Given the description of an element on the screen output the (x, y) to click on. 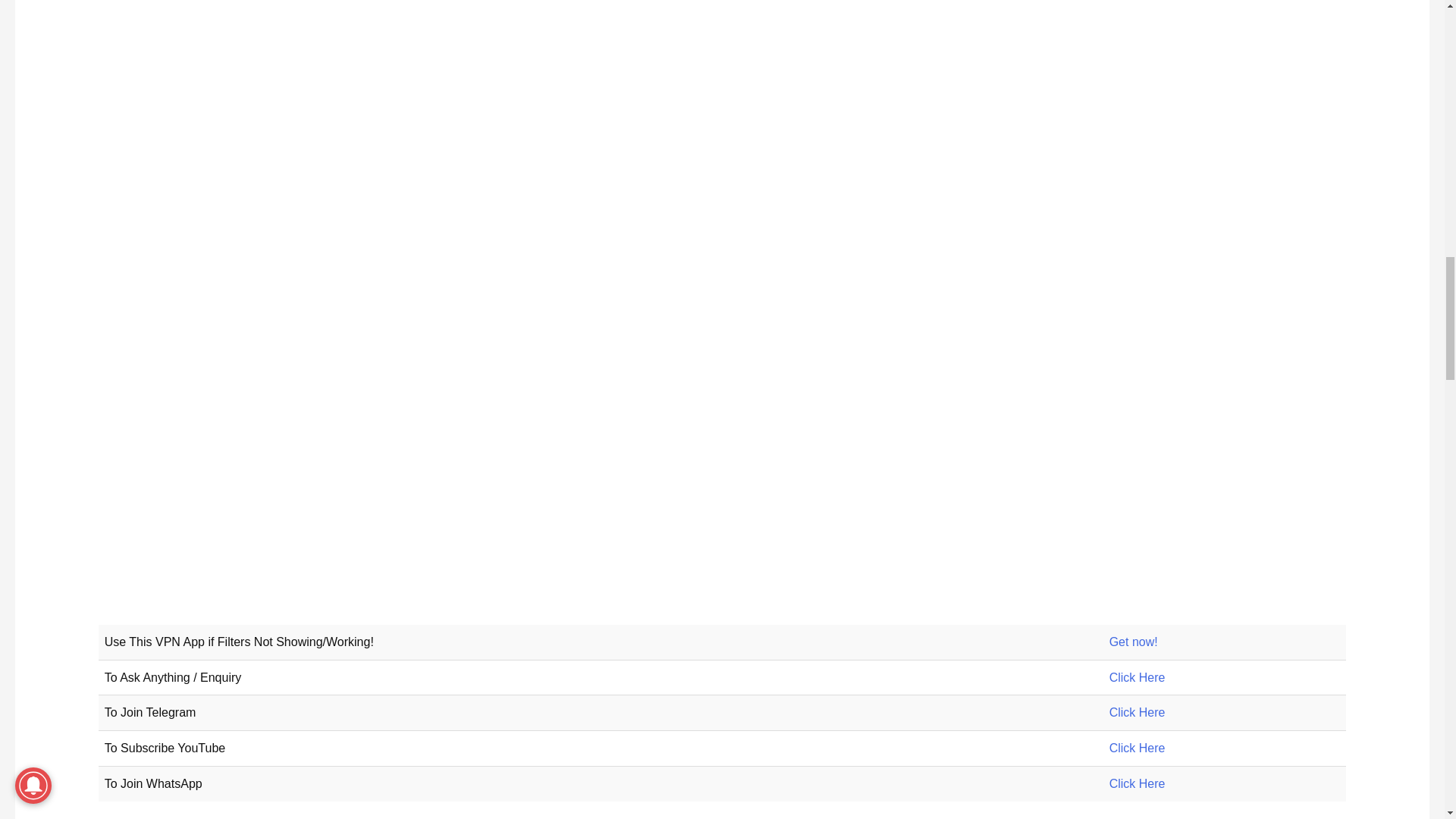
Click Here (1137, 783)
Click Here (1137, 676)
Click Here (1137, 748)
Click Here (1137, 712)
Click Here (1137, 676)
Get now! (1133, 641)
Get Now! (1133, 641)
